Given the description of an element on the screen output the (x, y) to click on. 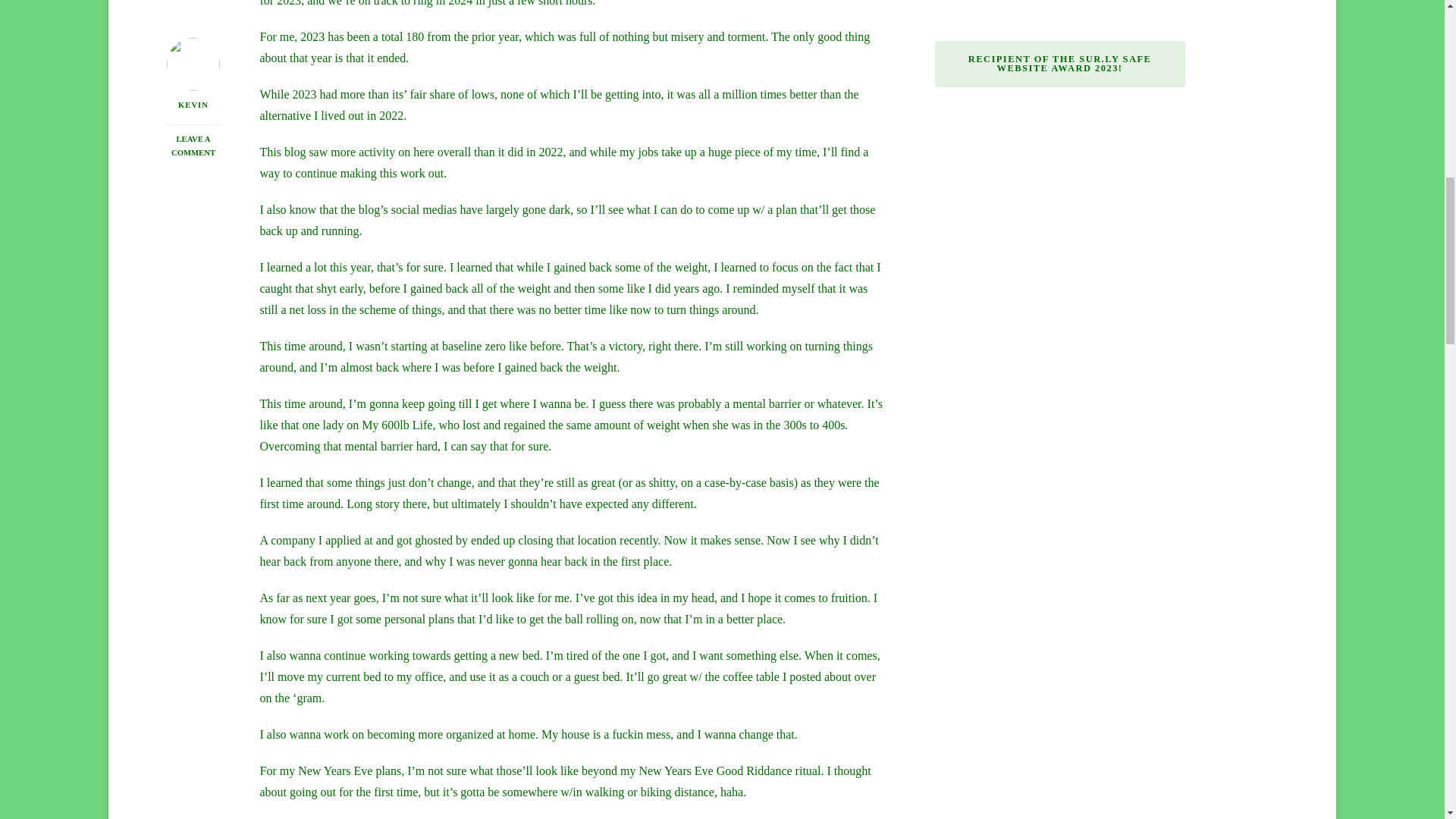
KEVIN (193, 22)
